Given the description of an element on the screen output the (x, y) to click on. 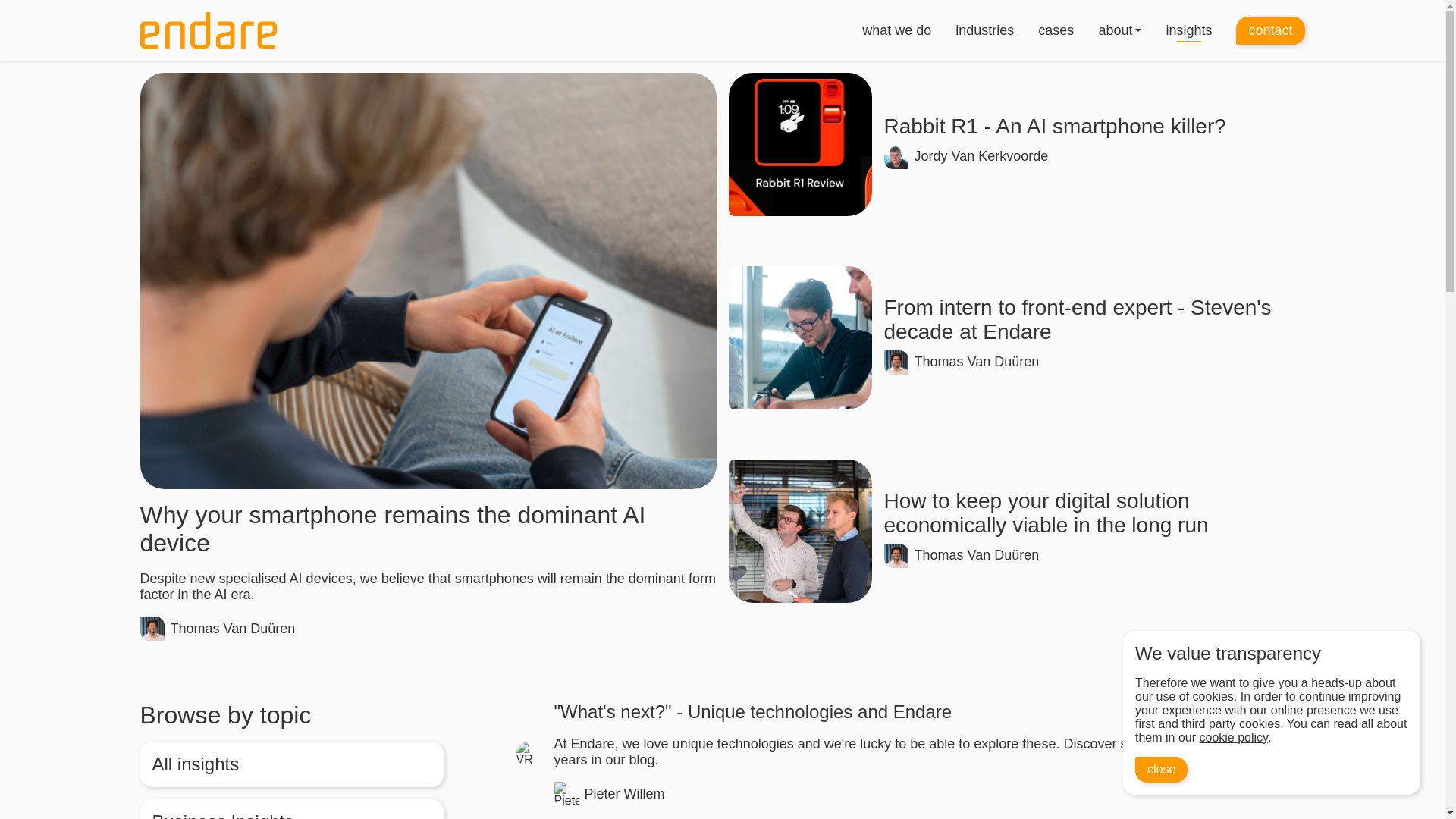
insights (1188, 29)
what we do (896, 29)
about (1114, 30)
contact (1270, 30)
industries (984, 29)
Business Insights (290, 809)
All insights (290, 764)
cases (1056, 29)
